Given the description of an element on the screen output the (x, y) to click on. 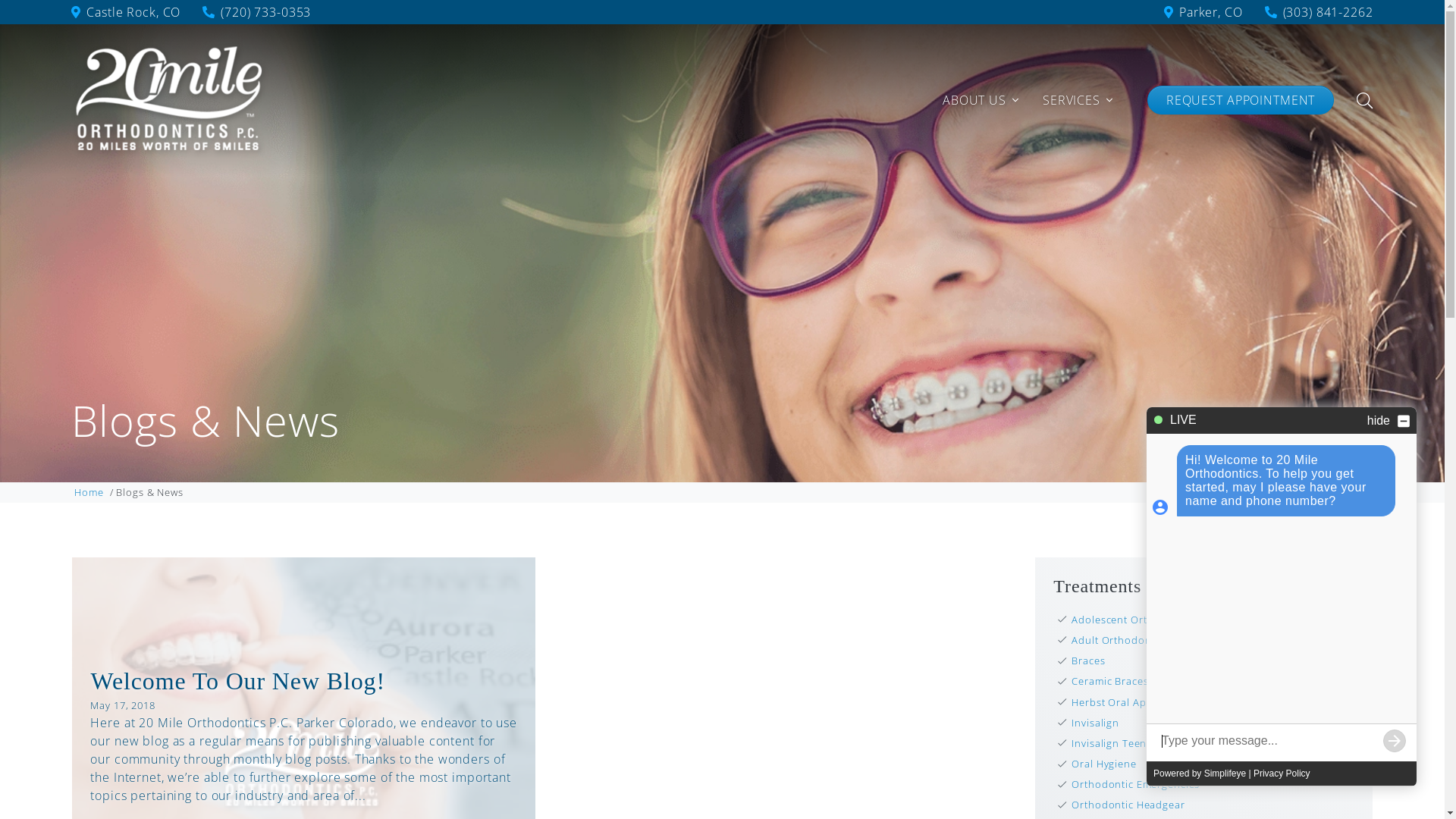
ABOUT US Element type: text (980, 99)
Orthodontic Headgear Element type: text (1212, 804)
Invisalign Teen Element type: text (1212, 743)
Chat window Element type: hover (1281, 596)
Braces Element type: text (1212, 660)
SERVICES Element type: text (1077, 99)
Home Element type: text (88, 492)
Adolescent Orthodontic Care Element type: text (1212, 619)
Invisalign Element type: text (1212, 722)
Adult Orthodontics Element type: text (1212, 640)
Treatments & Services Element type: text (1143, 586)
Castle Rock, CO Element type: text (125, 12)
Parker, CO Element type: text (1203, 12)
(720) 733-0353 Element type: text (247, 12)
Herbst Oral Appliance Element type: text (1212, 702)
REQUEST APPOINTMENT Element type: text (1240, 99)
Orthodontic Emergencies Element type: text (1212, 784)
Ceramic Braces Element type: text (1212, 681)
Oral Hygiene Element type: text (1212, 763)
(303) 841-2262 Element type: text (1309, 12)
